Given the description of an element on the screen output the (x, y) to click on. 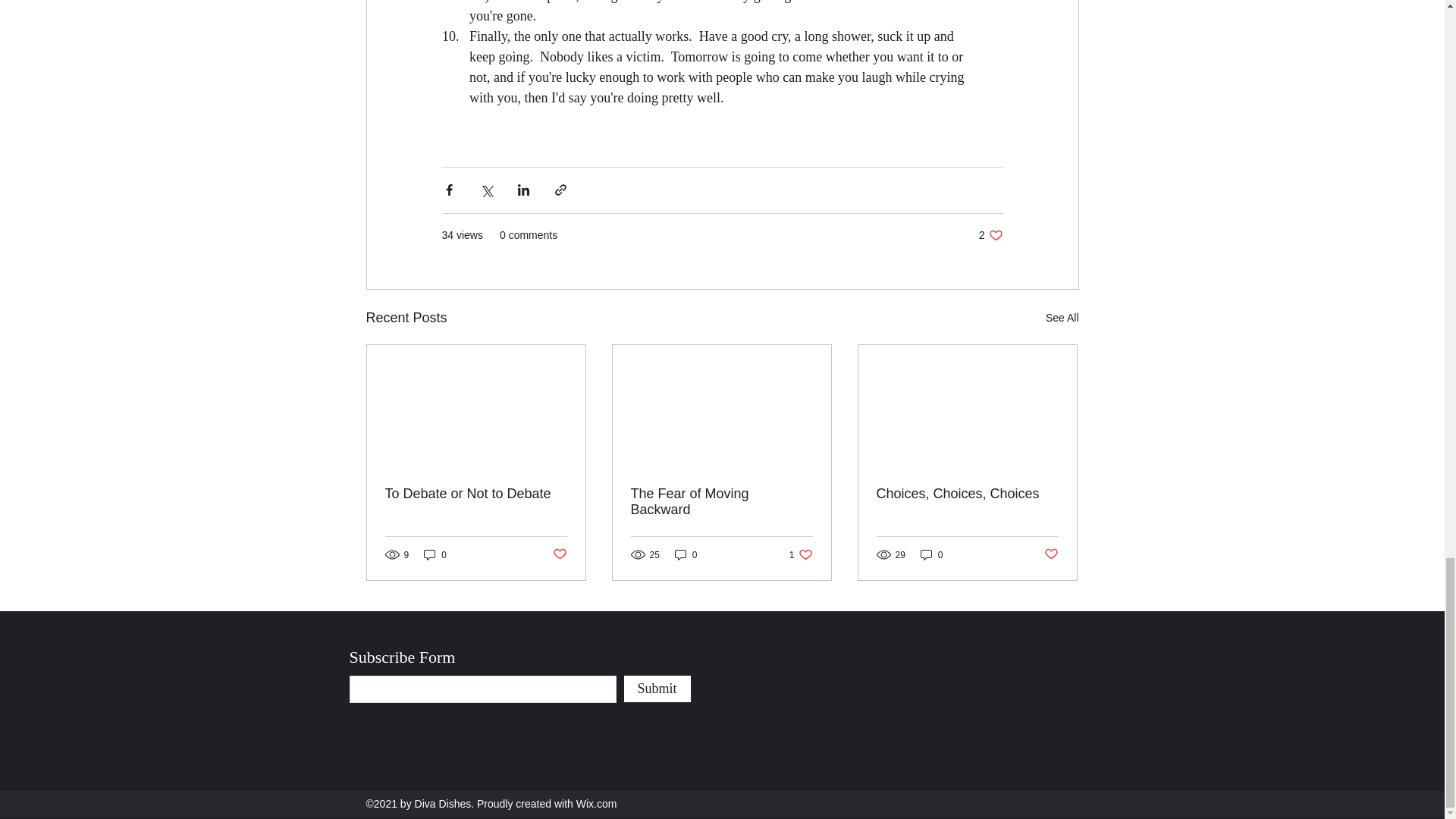
Submit (800, 554)
Post not marked as liked (656, 688)
0 (558, 554)
Post not marked as liked (931, 554)
Choices, Choices, Choices (1050, 554)
To Debate or Not to Debate (967, 494)
The Fear of Moving Backward (476, 494)
0 (721, 501)
0 (685, 554)
